Given the description of an element on the screen output the (x, y) to click on. 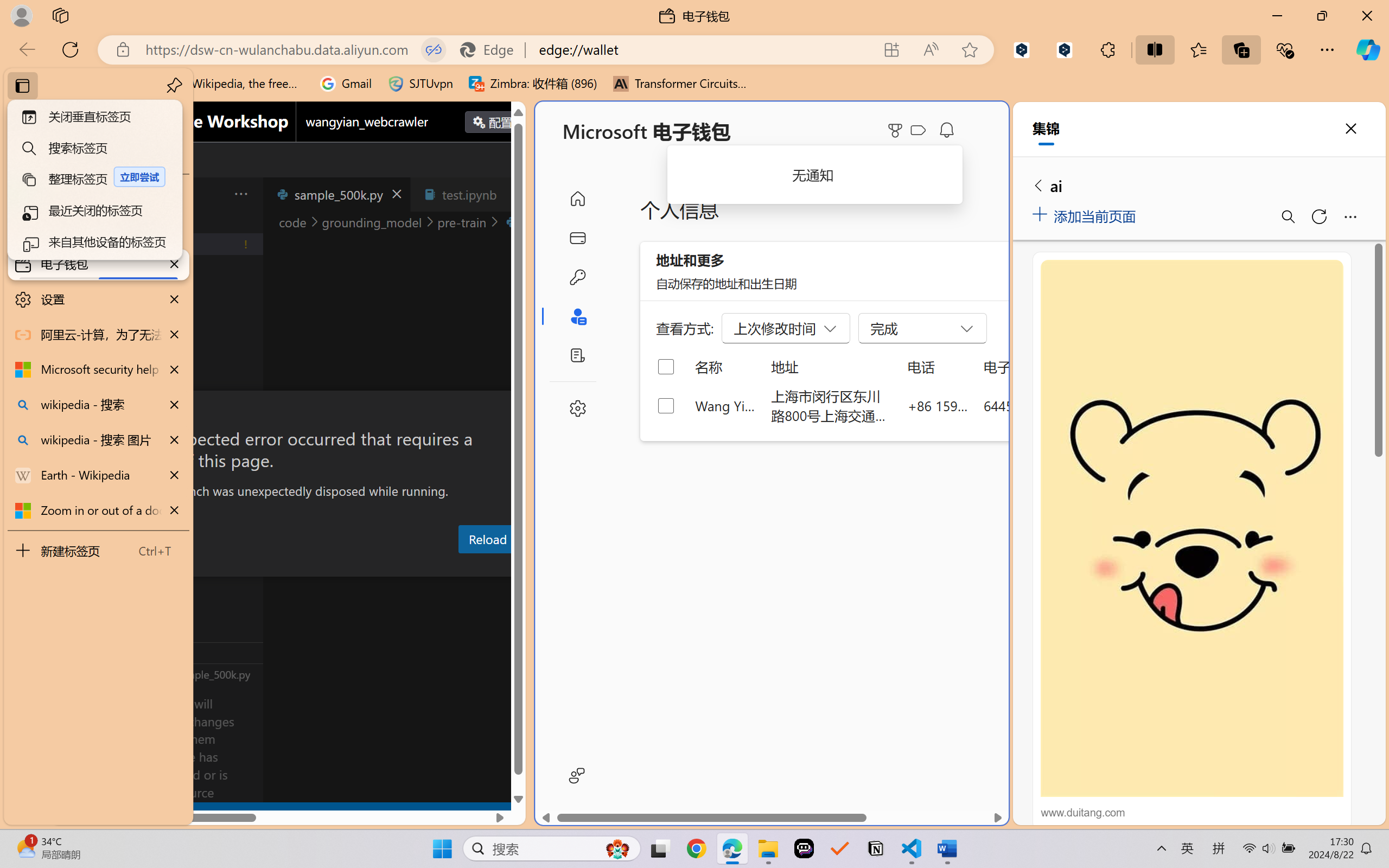
+86 159 0032 4640 (938, 405)
Outline Section (179, 652)
Wikipedia, the free encyclopedia (236, 83)
Timeline Section (179, 673)
Close (Ctrl+F4) (512, 194)
